Given the description of an element on the screen output the (x, y) to click on. 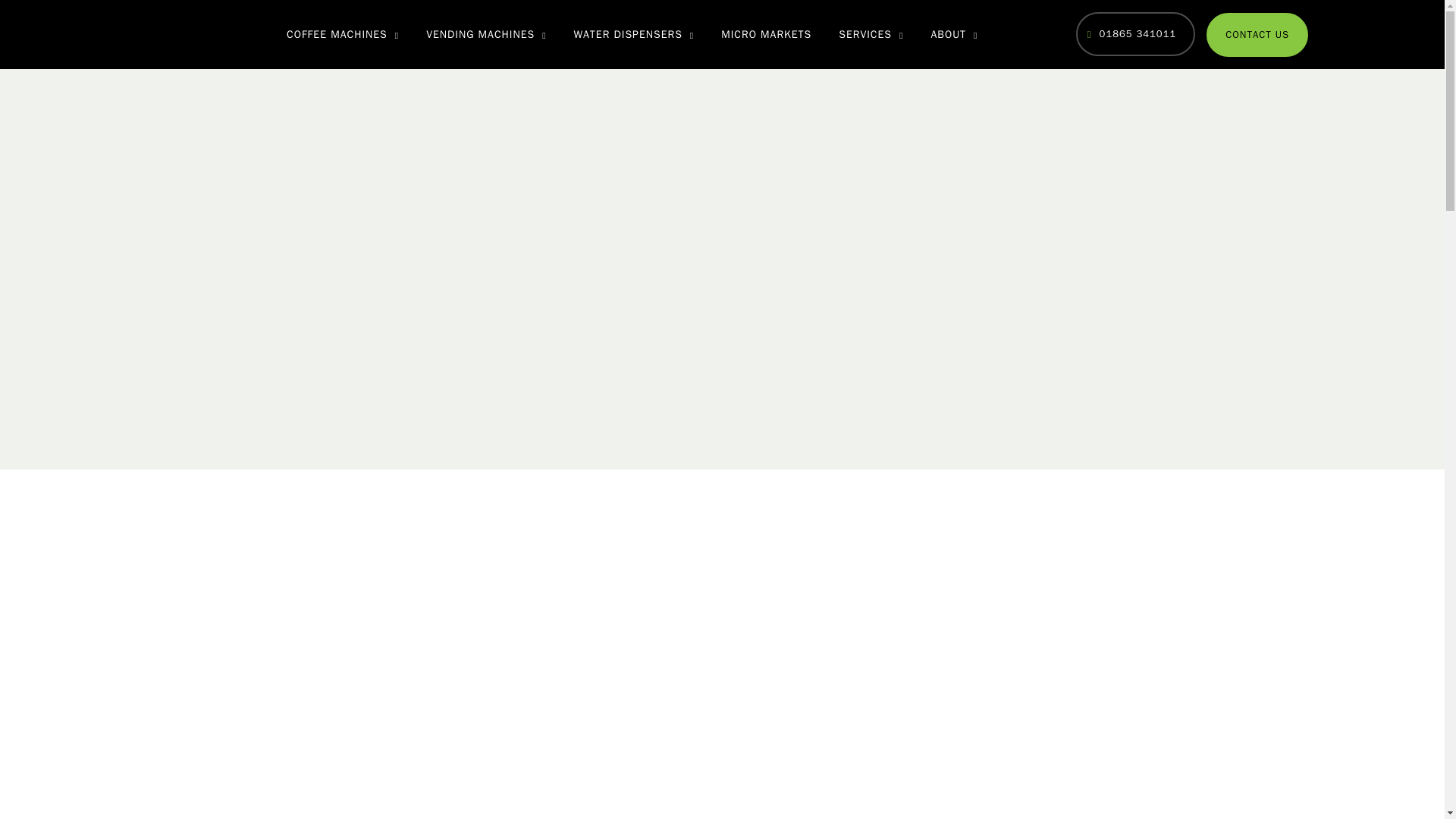
VENDING MACHINES (485, 34)
Contact Us (1257, 34)
01865 341011 (1135, 34)
WATER DISPENSERS (633, 34)
SERVICES (871, 34)
MICRO MARKETS (766, 34)
ABOUT (954, 34)
COFFEE MACHINES (342, 34)
CONTACT US (1257, 34)
